Given the description of an element on the screen output the (x, y) to click on. 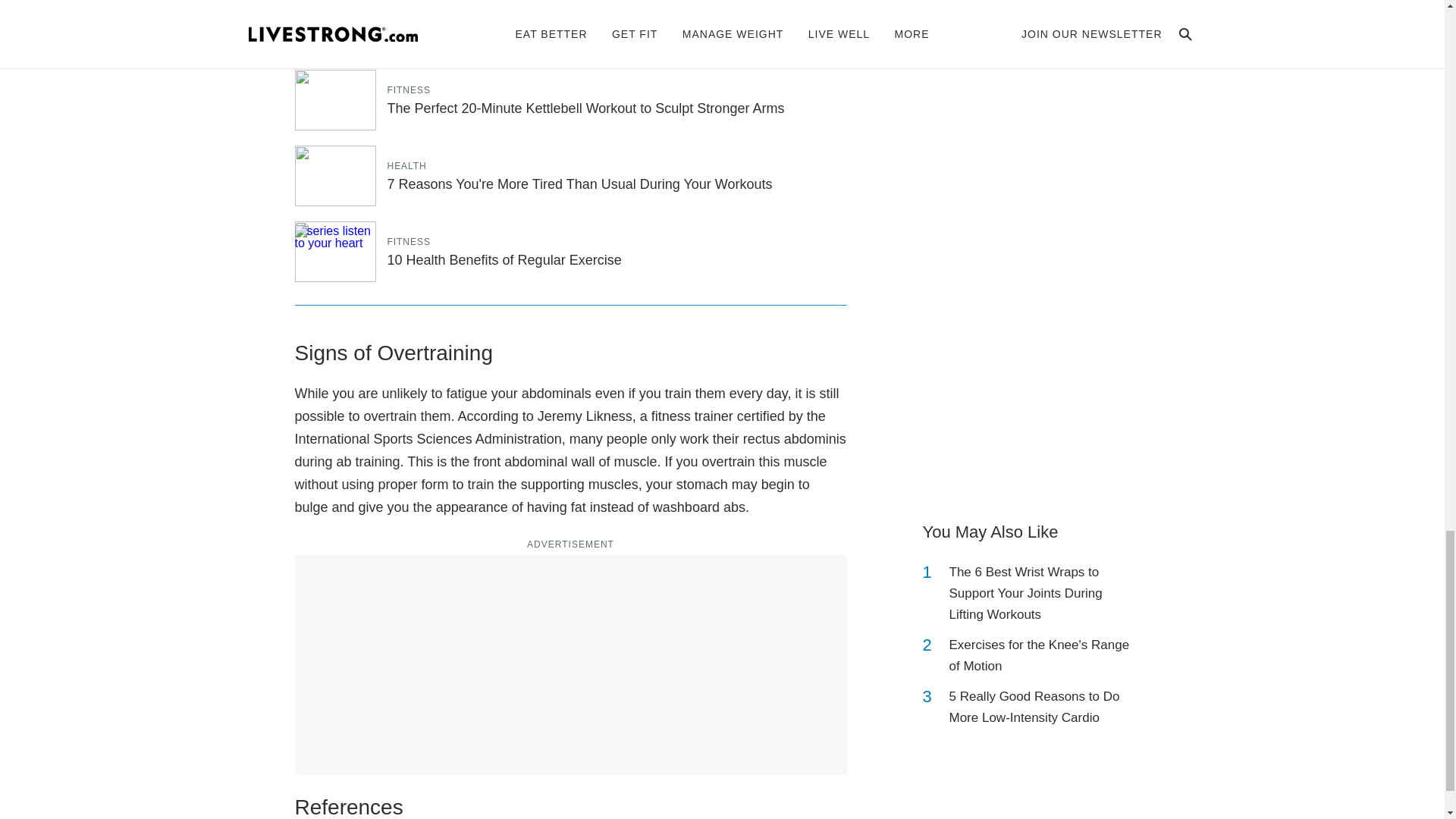
7 Reasons You're More Tired Than Usual During Your Workouts (579, 183)
5 Really Good Reasons to Do More Low-Intensity Cardio (1042, 707)
Exercises for the Knee's Range of Motion (1042, 655)
10 Health Benefits of Regular Exercise (504, 259)
